Given the description of an element on the screen output the (x, y) to click on. 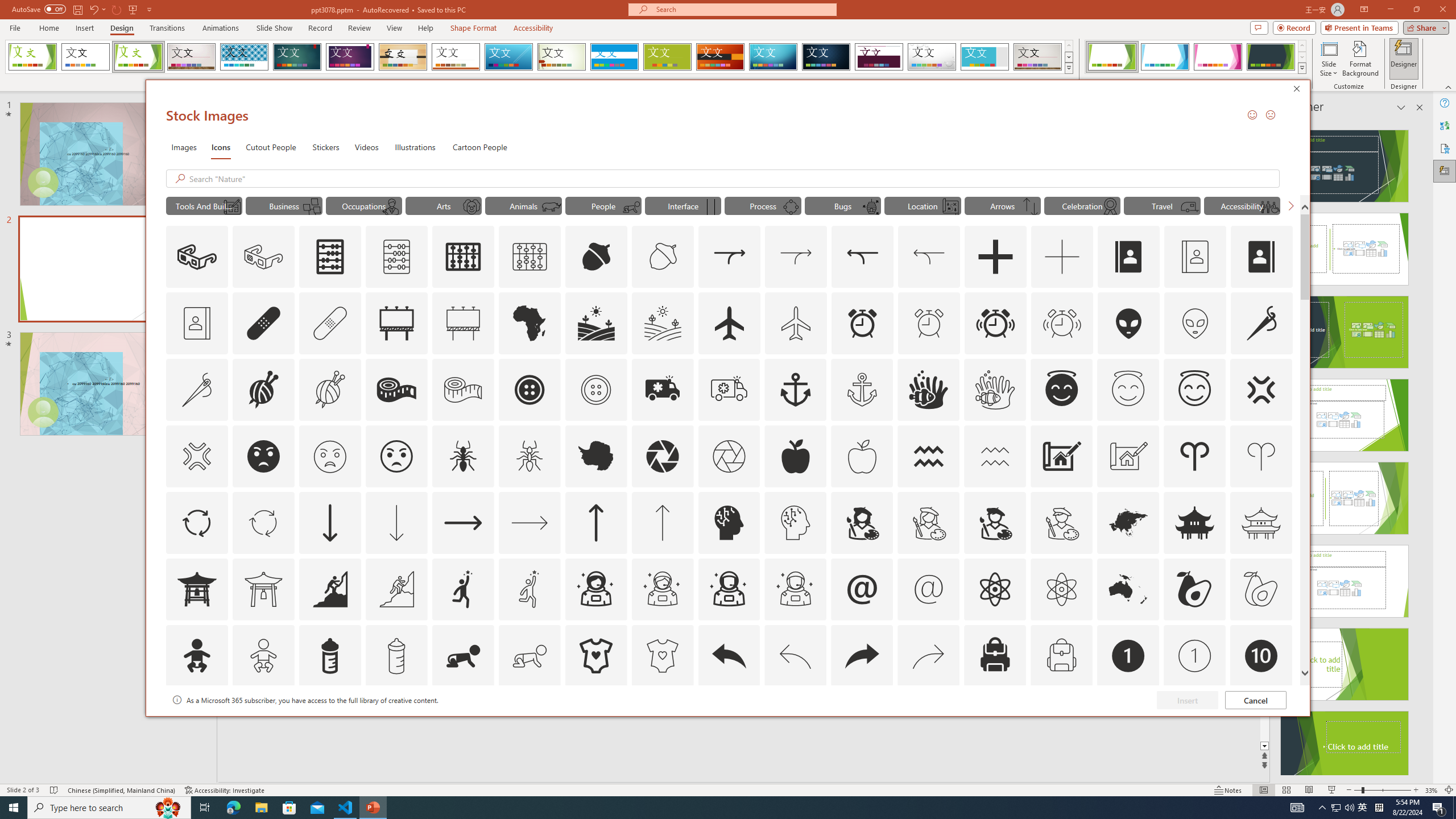
Cutout People (271, 146)
AutomationID: Icons_ArrowRight (462, 522)
Send a Smile (1251, 114)
Berlin (720, 56)
AutomationID: Icons_Badge10_M (196, 721)
AutomationID: Icons_Aries_M (1260, 455)
"Bugs" Icons. (842, 205)
Dividend (879, 56)
AutomationID: Icons_AngelFace_M (1128, 389)
AutomationID: Icons_Aspiration1 (462, 588)
AutomationID: Icons_Aspiration (329, 588)
Facet Variant 2 (1164, 56)
